Given the description of an element on the screen output the (x, y) to click on. 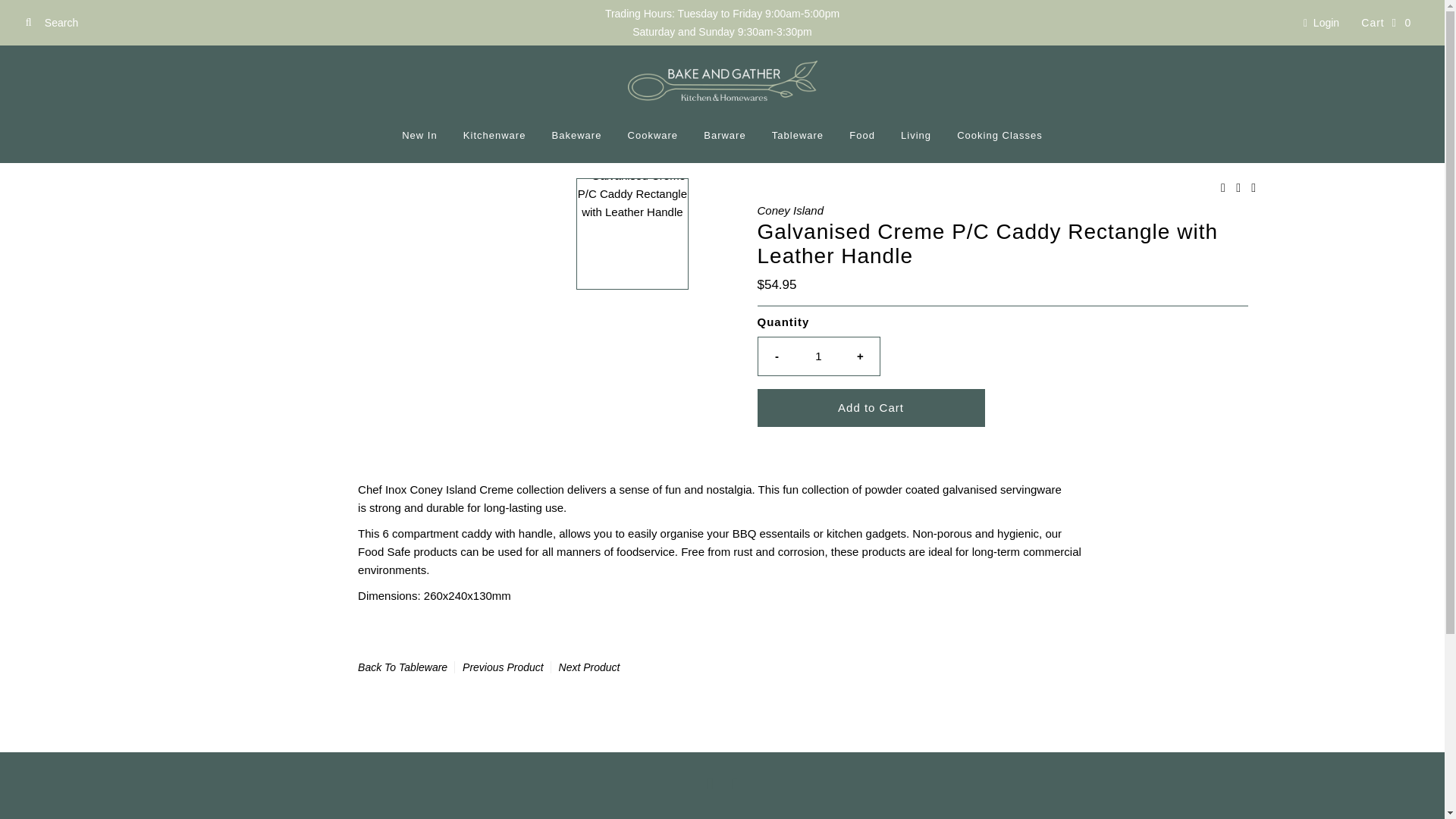
Kitchenware (494, 134)
Food (862, 134)
Cookware (652, 134)
New In (419, 134)
Cooking Classes (999, 134)
  Login (1321, 22)
- (777, 355)
Living (915, 134)
Bakeware (576, 134)
Add to Cart (870, 406)
Barware (725, 134)
Add to Cart (870, 406)
1 (818, 355)
Cart    0 (1385, 22)
Tableware (797, 134)
